Given the description of an element on the screen output the (x, y) to click on. 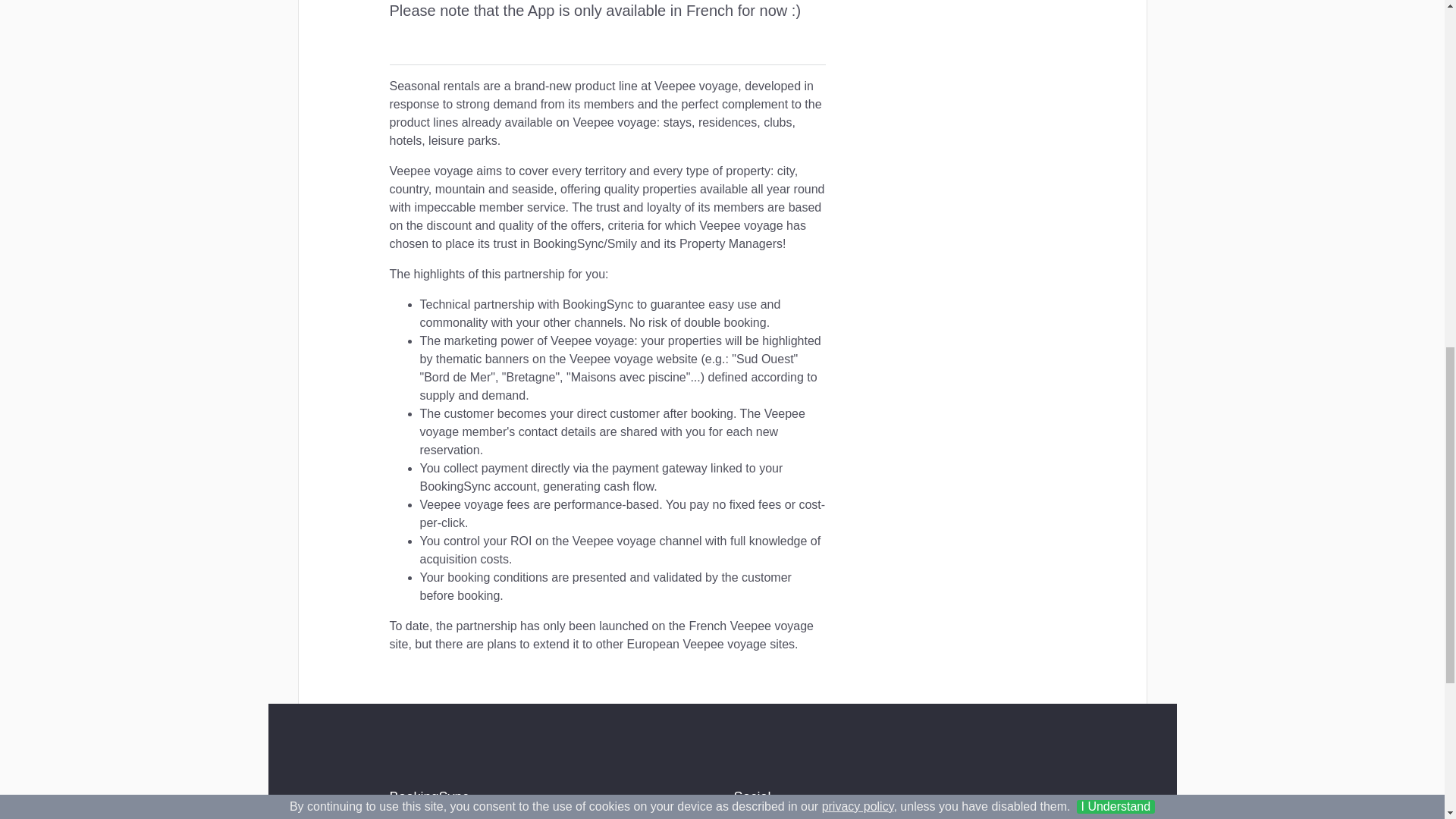
Blog (635, 816)
Website Builder (464, 816)
